Given the description of an element on the screen output the (x, y) to click on. 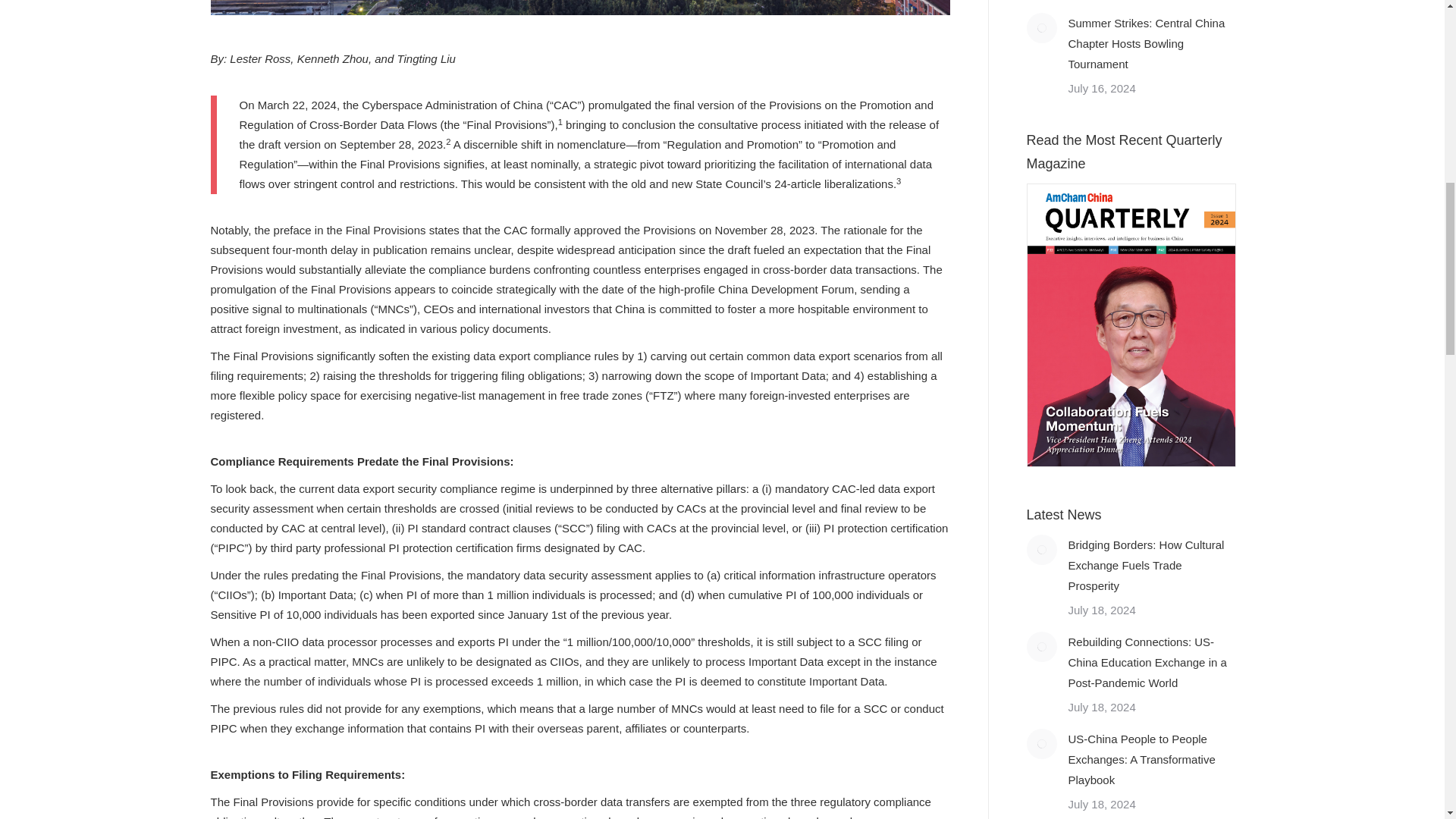
download-the-magazine-2024-q1 (1131, 462)
Beijing skyline (580, 7)
